Given the description of an element on the screen output the (x, y) to click on. 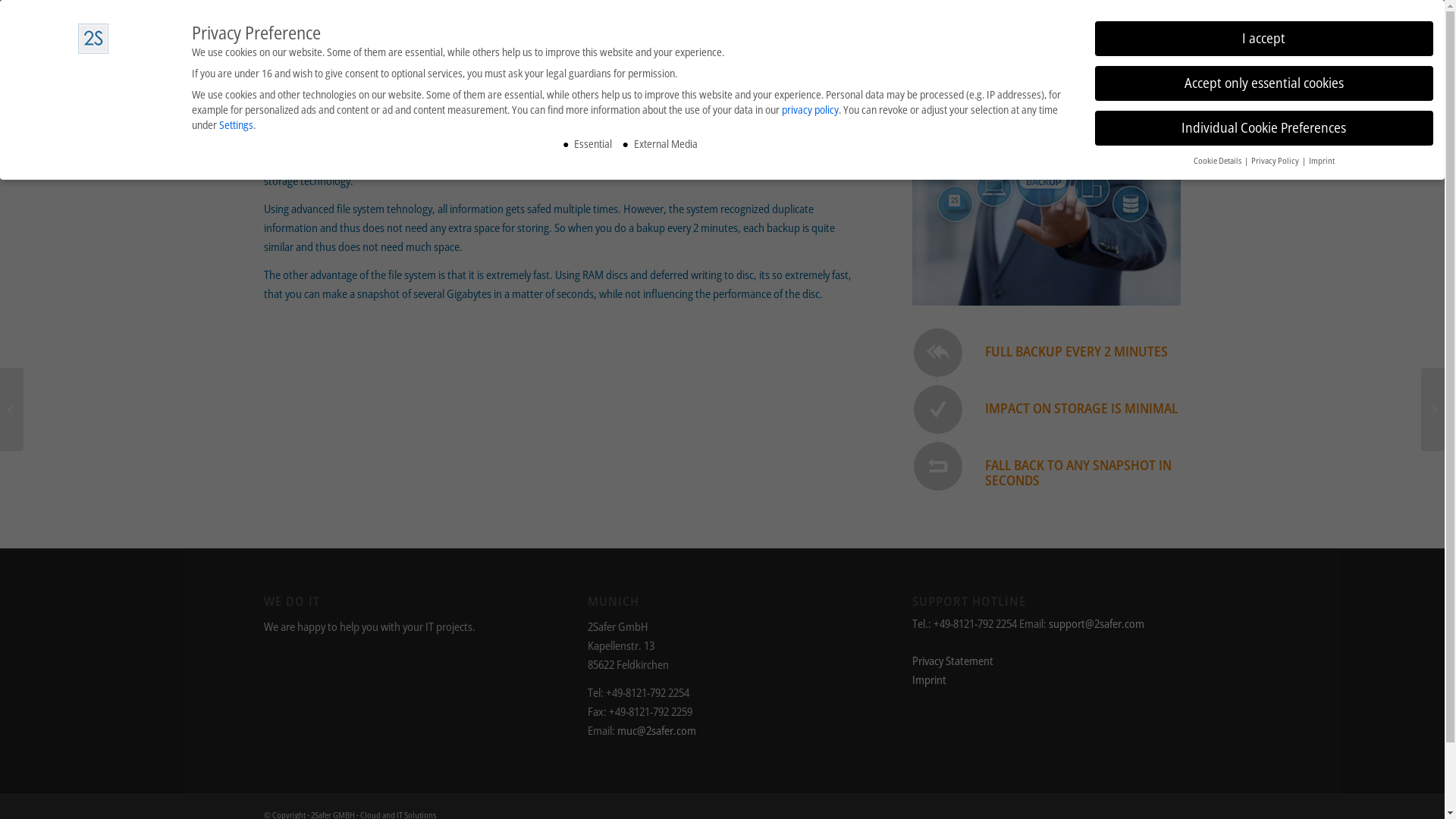
backup_wonder Element type: hover (1046, 215)
Privacy Policy Element type: text (1275, 160)
English Element type: hover (1163, 43)
Deutsch Element type: hover (1130, 43)
muc@2safer.com Element type: text (656, 729)
Imprint Element type: text (1321, 160)
Settings Element type: text (236, 124)
I accept Element type: text (1264, 38)
Accept only essential cookies Element type: text (1264, 82)
R&D Element type: text (1014, 44)
Imprint Element type: text (929, 679)
Contact Element type: text (1058, 44)
support@2safer.com Element type: text (1096, 622)
privacy policy Element type: text (809, 109)
Home Element type: text (972, 44)
Privacy Statement Element type: text (952, 660)
Individual Cookie Preferences Element type: text (1264, 127)
Cookie Details Element type: text (1217, 160)
